Given the description of an element on the screen output the (x, y) to click on. 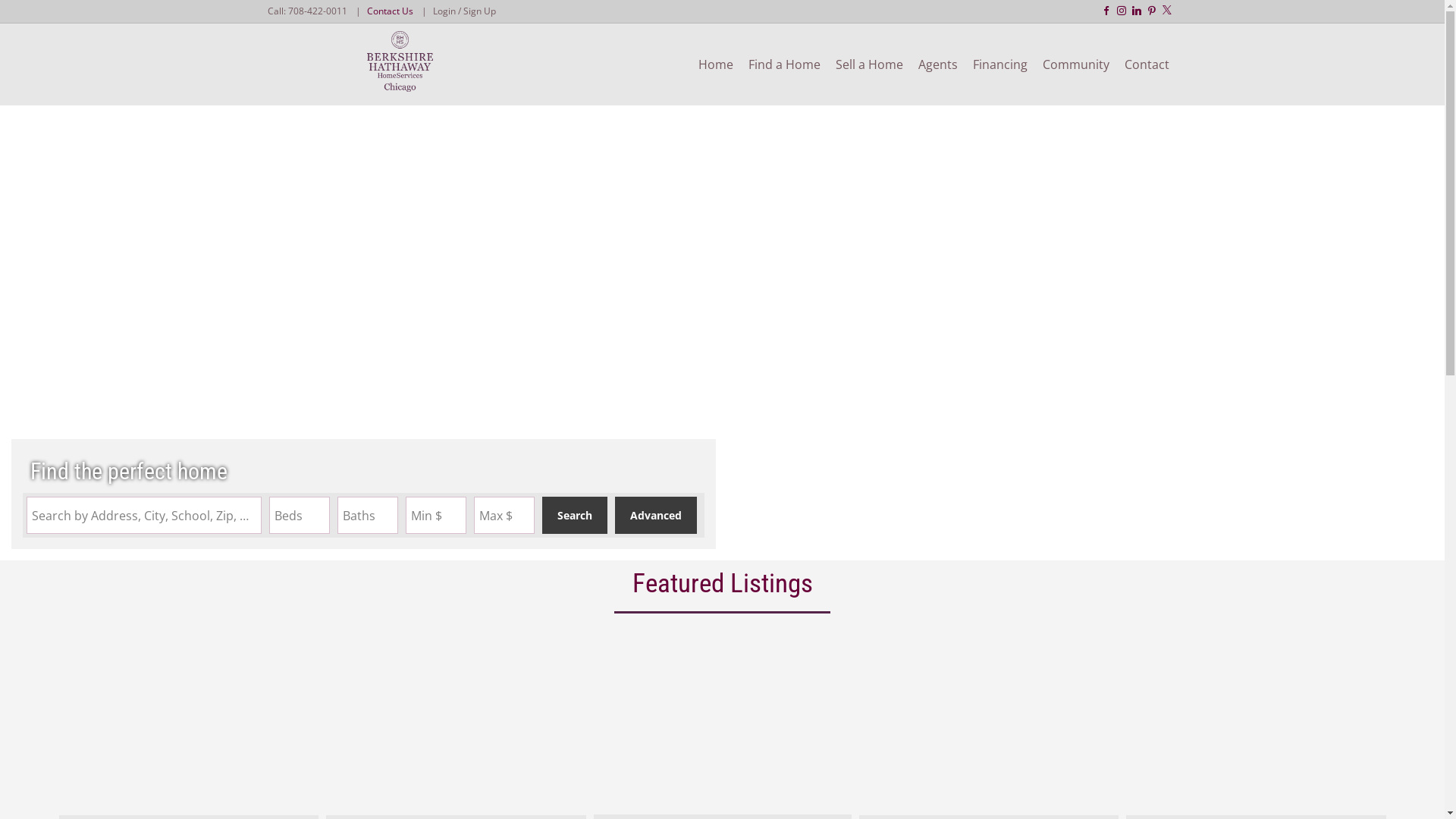
Find a Home (783, 64)
Visit us on Pinterest (1151, 10)
Visit us on Instagram (1120, 10)
Visit us on X (1166, 9)
Contact Us (389, 10)
Visit us on Facebook (1106, 10)
Contact (1146, 64)
Financing (998, 64)
Community (1074, 64)
708-422-0011 (317, 10)
Visit us on LinkedIn (1136, 10)
Sell a Home (869, 64)
Home (714, 64)
Agents (936, 64)
